Given the description of an element on the screen output the (x, y) to click on. 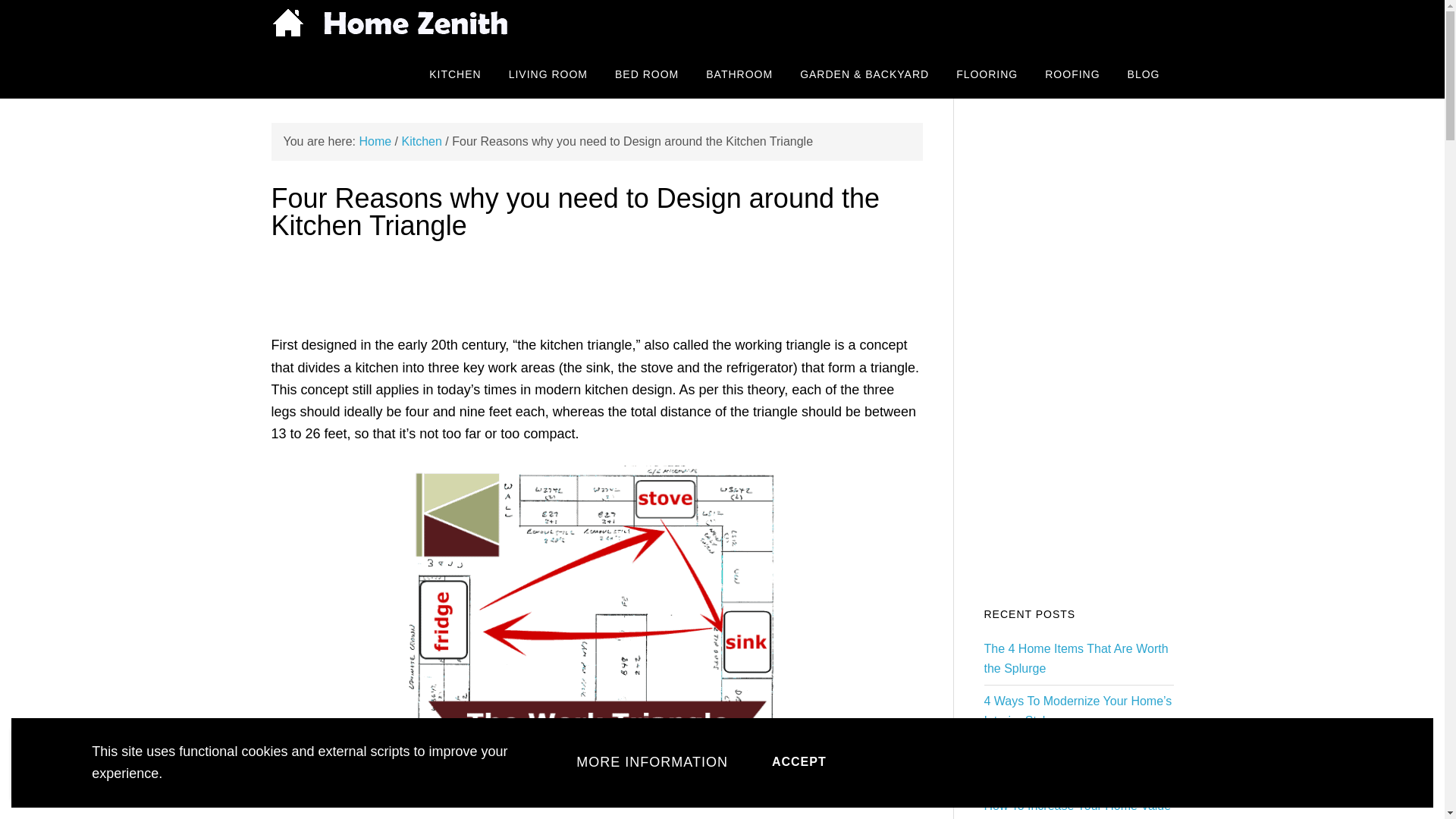
KITCHEN (454, 73)
ACCEPT (799, 762)
ROOFING (1071, 73)
FLOORING (986, 73)
BLOG (1143, 73)
The 4 Home Items That Are Worth the Splurge (1076, 658)
Advertisement (596, 285)
MORE INFORMATION (652, 762)
HOME ZENITH (391, 24)
Kitchen (421, 141)
Advertisement (596, 789)
Home (374, 141)
LIVING ROOM (548, 73)
How To Increase Your Home Value When Selling in Florida (1078, 809)
BATHROOM (739, 73)
